Given the description of an element on the screen output the (x, y) to click on. 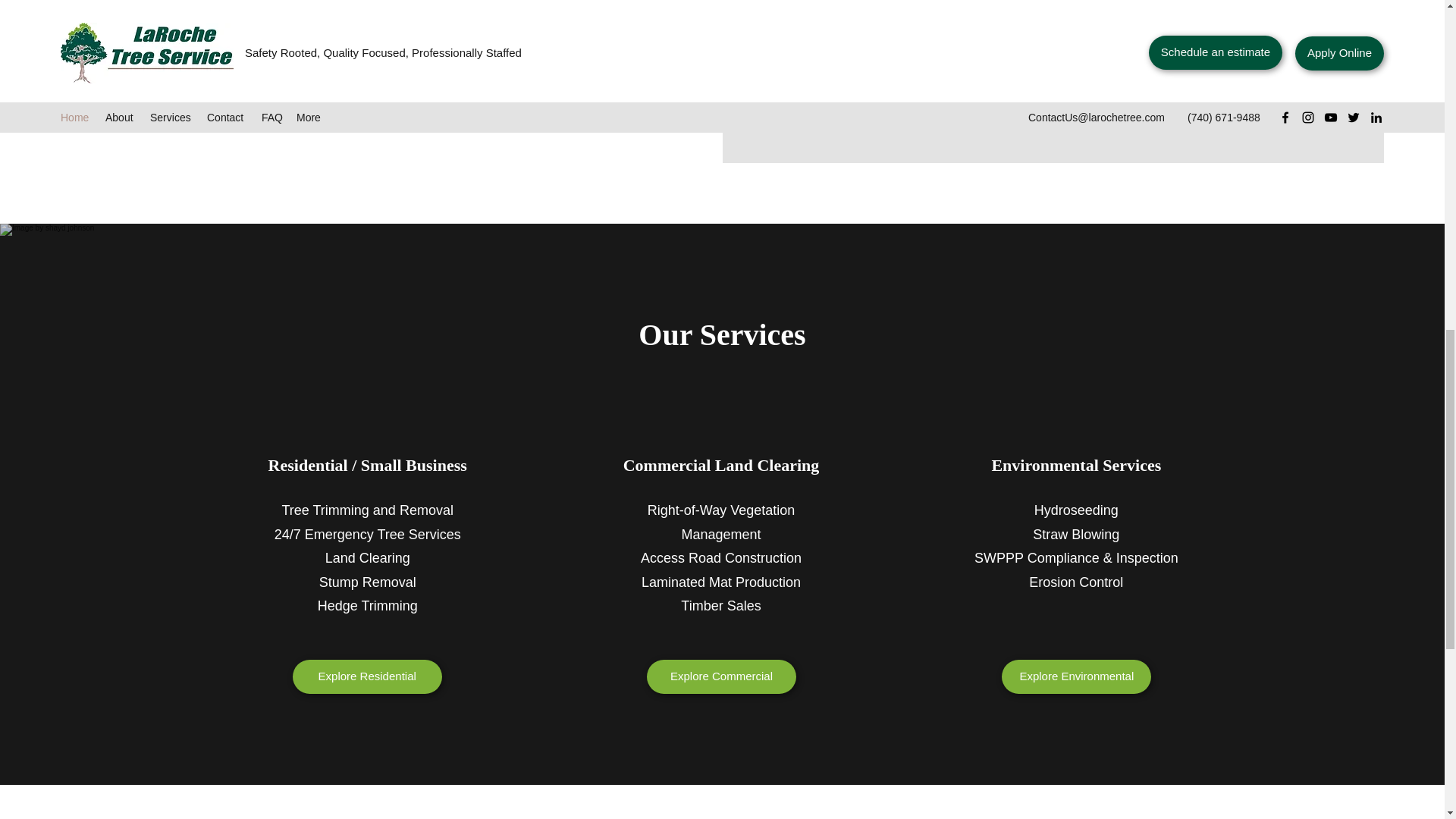
Explore Environmental (1076, 676)
Explore Commercial (721, 676)
Explore Residential (367, 676)
